Given the description of an element on the screen output the (x, y) to click on. 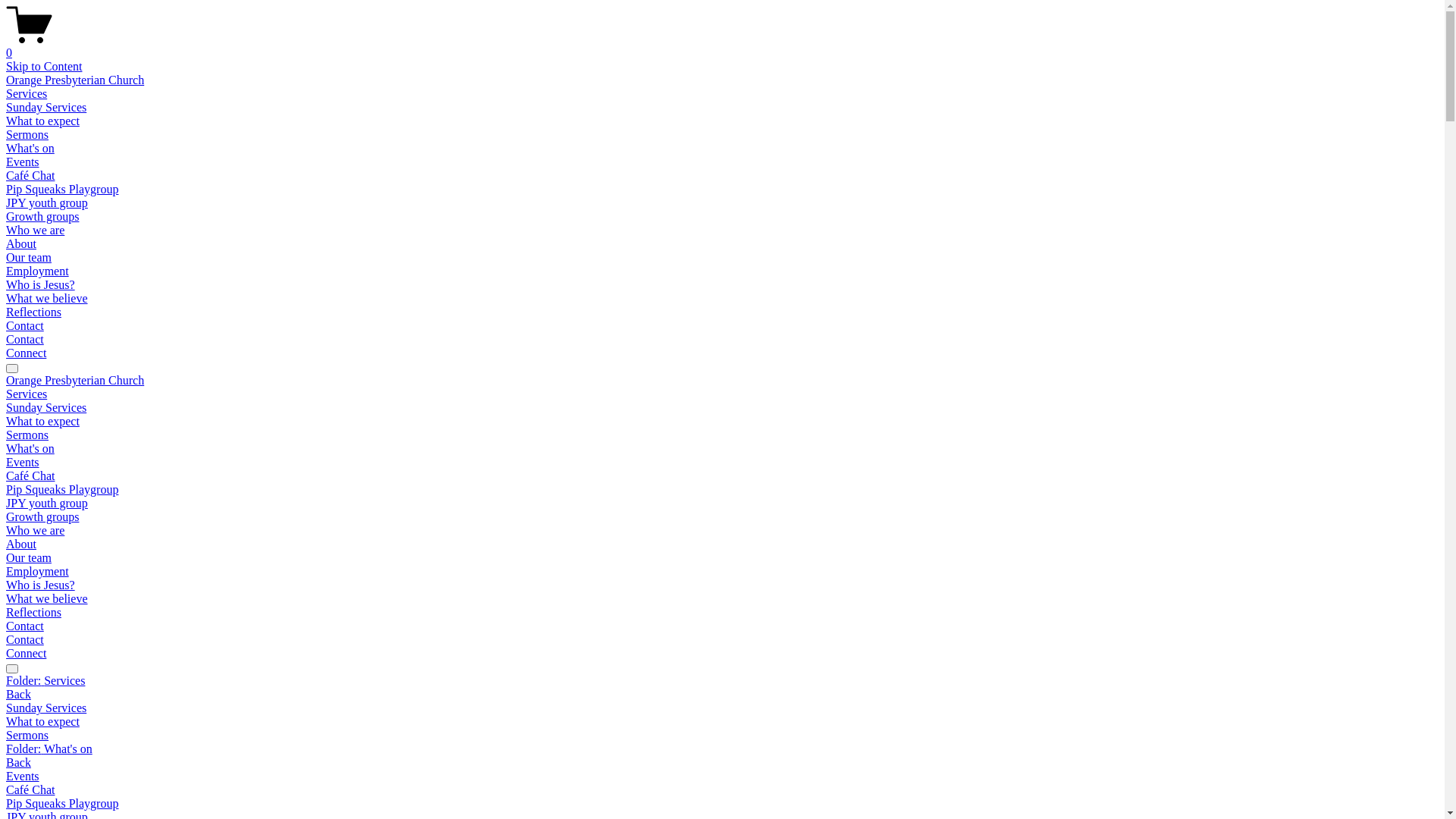
Contact Element type: text (24, 625)
Connect Element type: text (26, 652)
What's on Element type: text (30, 147)
Our team Element type: text (28, 557)
Pip Squeaks Playgroup Element type: text (62, 489)
Employment Element type: text (37, 270)
What's on Element type: text (30, 448)
Events Element type: text (722, 776)
What we believe Element type: text (46, 297)
Skip to Content Element type: text (43, 65)
Sermons Element type: text (27, 434)
What to expect Element type: text (42, 120)
Sunday Services Element type: text (46, 106)
What we believe Element type: text (46, 598)
Who is Jesus? Element type: text (40, 584)
Orange Presbyterian Church Element type: text (75, 79)
Pip Squeaks Playgroup Element type: text (722, 803)
Back Element type: text (18, 762)
0 Element type: text (722, 45)
What to expect Element type: text (42, 420)
Our team Element type: text (28, 257)
Who we are Element type: text (35, 530)
Contact Element type: text (24, 338)
Who is Jesus? Element type: text (40, 284)
Contact Element type: text (24, 639)
Employment Element type: text (37, 570)
Growth groups Element type: text (42, 216)
What to expect Element type: text (722, 721)
Services Element type: text (26, 393)
Who we are Element type: text (35, 229)
About Element type: text (21, 543)
Contact Element type: text (24, 325)
Sunday Services Element type: text (46, 407)
Growth groups Element type: text (42, 516)
Reflections Element type: text (33, 611)
Pip Squeaks Playgroup Element type: text (62, 188)
Events Element type: text (22, 161)
Services Element type: text (26, 93)
Orange Presbyterian Church Element type: text (75, 379)
Folder: What's on Element type: text (722, 749)
JPY youth group Element type: text (46, 202)
Sermons Element type: text (722, 735)
Events Element type: text (22, 461)
Sermons Element type: text (27, 134)
JPY youth group Element type: text (46, 502)
Connect Element type: text (26, 352)
Reflections Element type: text (33, 311)
Sunday Services Element type: text (722, 708)
Back Element type: text (18, 693)
About Element type: text (21, 243)
Folder: Services Element type: text (722, 680)
